Given the description of an element on the screen output the (x, y) to click on. 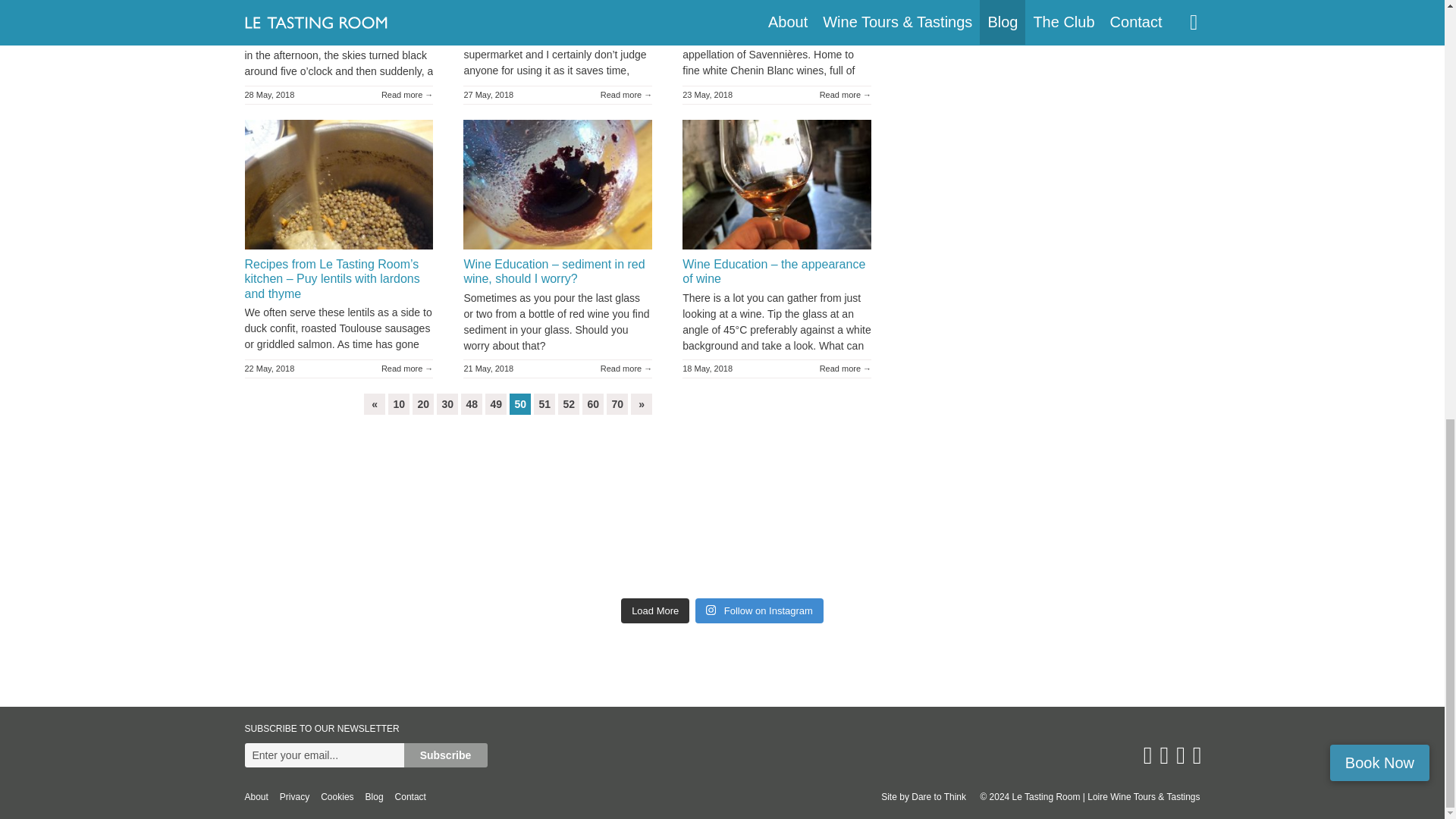
Page 30 (447, 403)
Page 49 (495, 403)
Page 60 (593, 403)
Page 52 (568, 403)
Page 51 (544, 403)
Page 70 (617, 403)
Page 10 (398, 403)
Page 48 (471, 403)
Subscribe (444, 754)
Page 20 (422, 403)
